Given the description of an element on the screen output the (x, y) to click on. 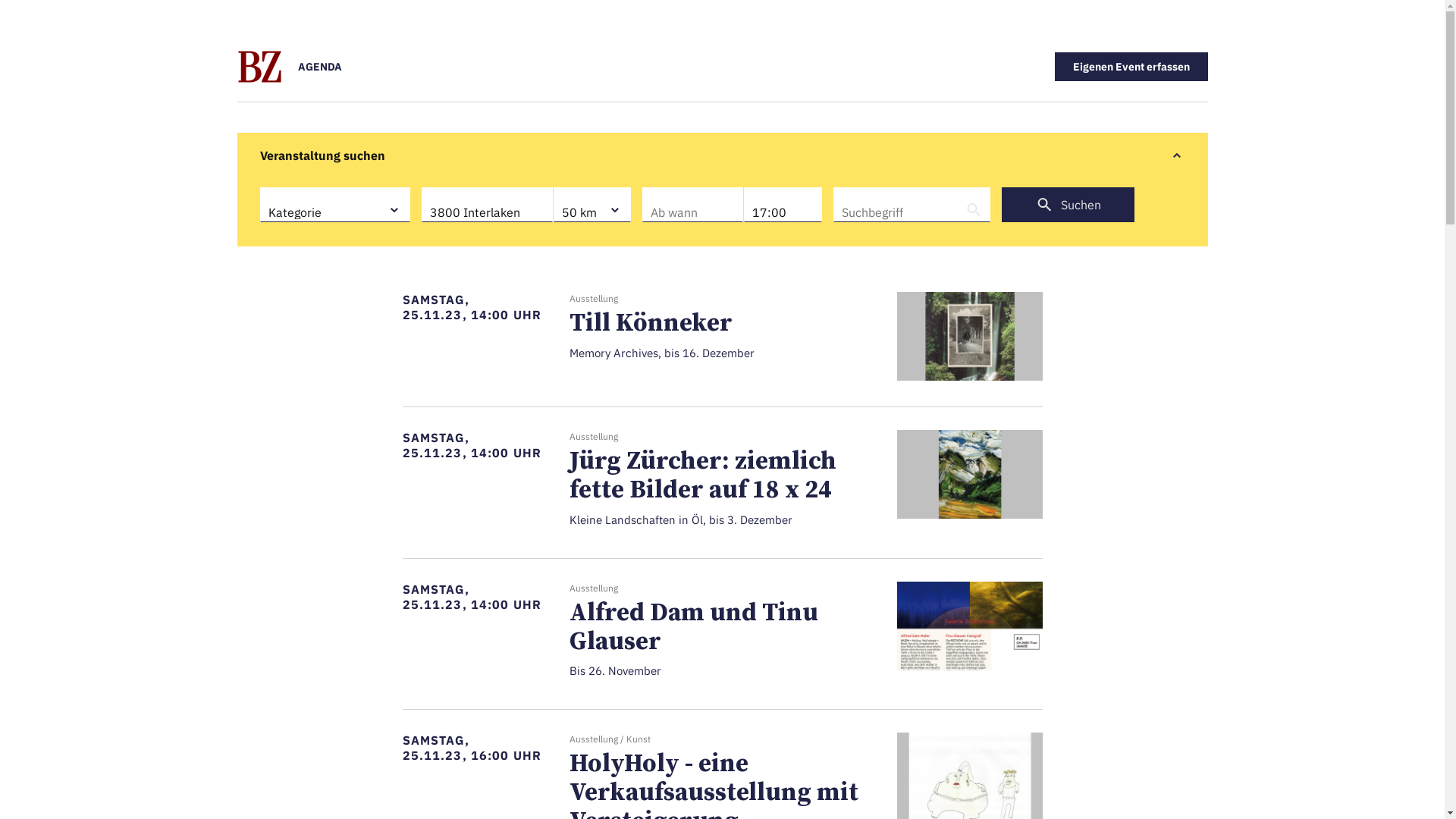
AGENDA Element type: text (319, 66)
Eigenen Event erfassen Element type: text (1130, 66)
Suchen Element type: text (1067, 204)
